Given the description of an element on the screen output the (x, y) to click on. 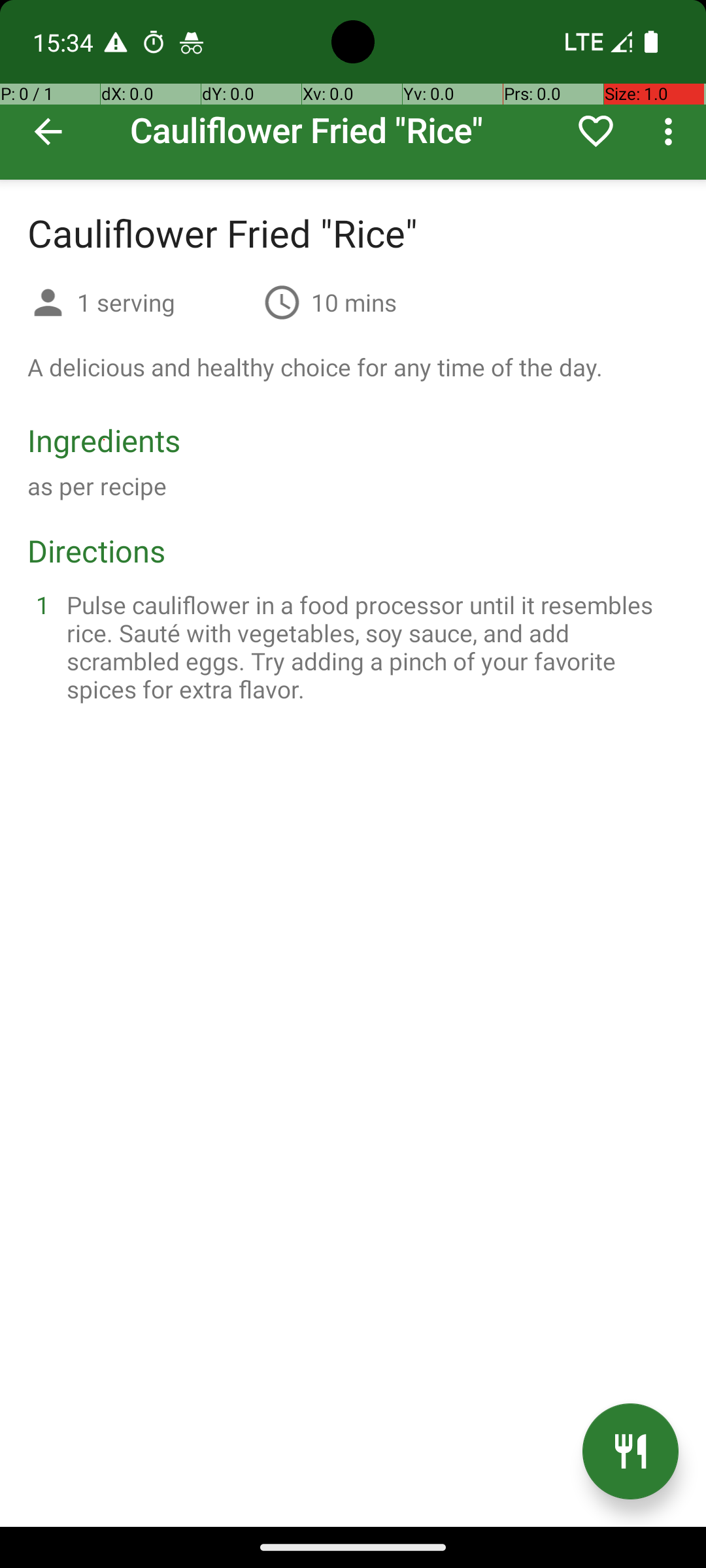
Cauliflower Fried "Rice" Element type: android.widget.FrameLayout (353, 89)
Mark as favorite Element type: android.widget.Button (595, 131)
1 serving Element type: android.widget.TextView (164, 301)
10 mins Element type: android.widget.TextView (353, 301)
as per recipe Element type: android.widget.TextView (96, 485)
Pulse cauliflower in a food processor until it resembles rice. Sauté with vegetables, soy sauce, and add scrambled eggs. Try adding a pinch of your favorite spices for extra flavor. Element type: android.widget.TextView (368, 646)
